Given the description of an element on the screen output the (x, y) to click on. 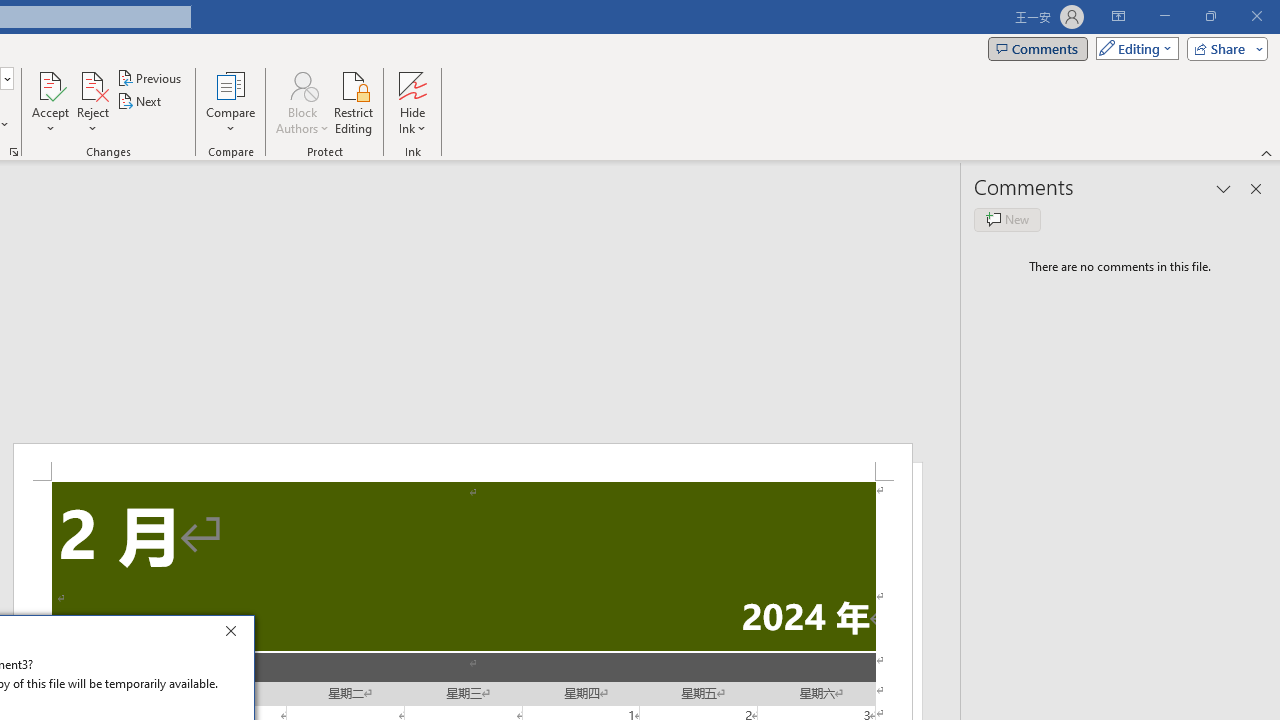
Hide Ink (412, 84)
Reject (92, 102)
Accept and Move to Next (50, 84)
Block Authors (302, 84)
Header -Section 2- (462, 461)
New comment (1007, 219)
Reject and Move to Next (92, 84)
